Given the description of an element on the screen output the (x, y) to click on. 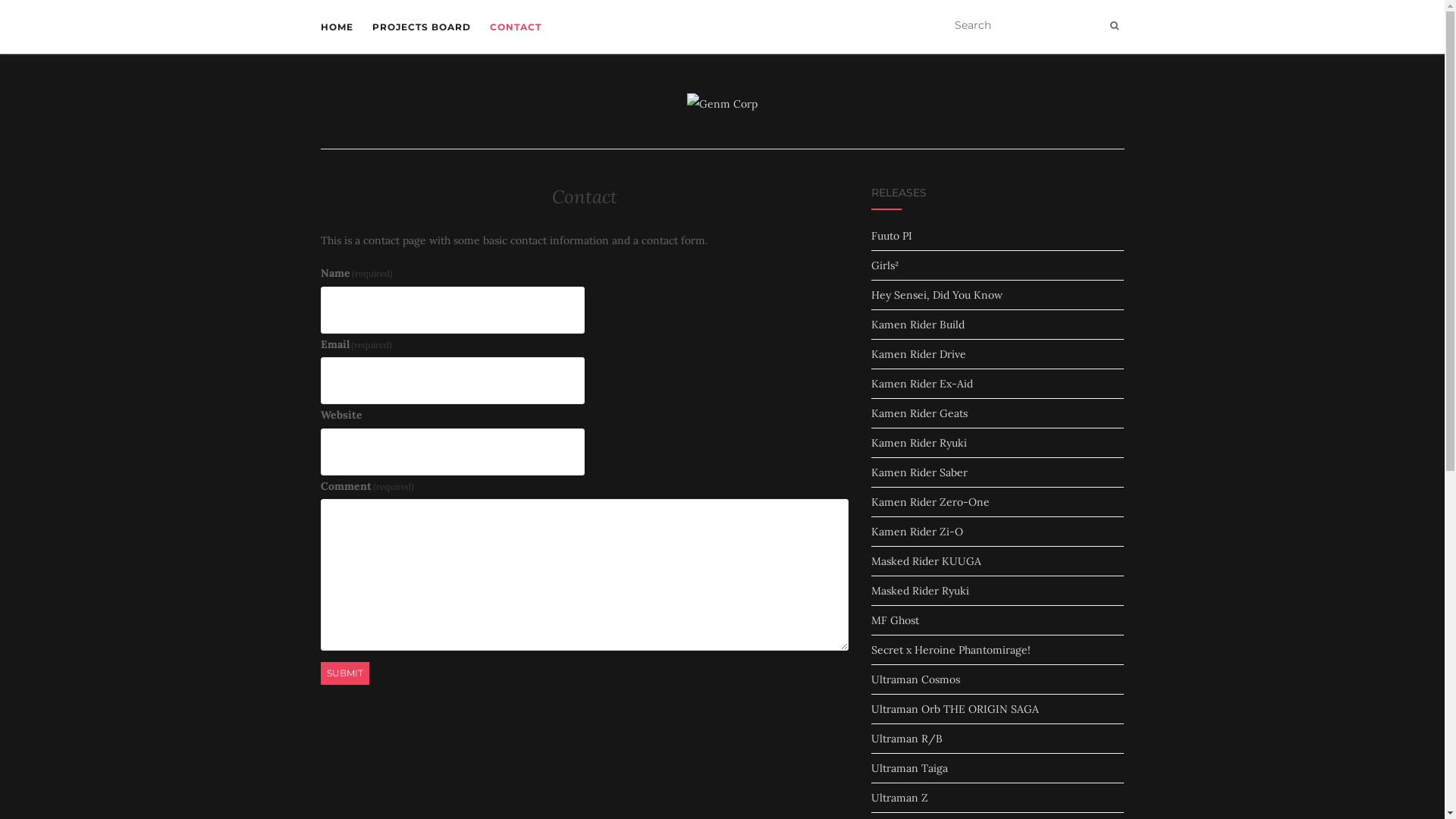
Masked Rider KUUGA Element type: text (926, 560)
PROJECTS BOARD Element type: text (420, 26)
Kamen Rider Zero-One Element type: text (930, 501)
Ultraman Taiga Element type: text (909, 768)
CONTACT Element type: text (515, 26)
Masked Rider Ryuki Element type: text (920, 590)
Ultraman Orb THE ORIGIN SAGA Element type: text (954, 708)
Kamen Rider Ex-Aid Element type: text (921, 383)
MF Ghost Element type: text (895, 620)
Fuuto PI Element type: text (891, 235)
Hey Sensei, Did You Know Element type: text (936, 294)
Kamen Rider Ryuki Element type: text (918, 442)
Search Element type: text (1114, 25)
Please enter a valid URL - https://www.example.com Element type: hover (451, 451)
Kamen Rider Drive Element type: text (918, 353)
SUBMIT Element type: text (344, 673)
Ultraman Cosmos Element type: text (915, 679)
Kamen Rider Zi-O Element type: text (917, 531)
Kamen Rider Saber Element type: text (919, 472)
Ultraman Z Element type: text (899, 797)
HOME Element type: text (336, 26)
Ultraman R/B Element type: text (906, 738)
Kamen Rider Build Element type: text (917, 324)
Secret x Heroine Phantomirage! Element type: text (950, 649)
Kamen Rider Geats Element type: text (919, 413)
